Given the description of an element on the screen output the (x, y) to click on. 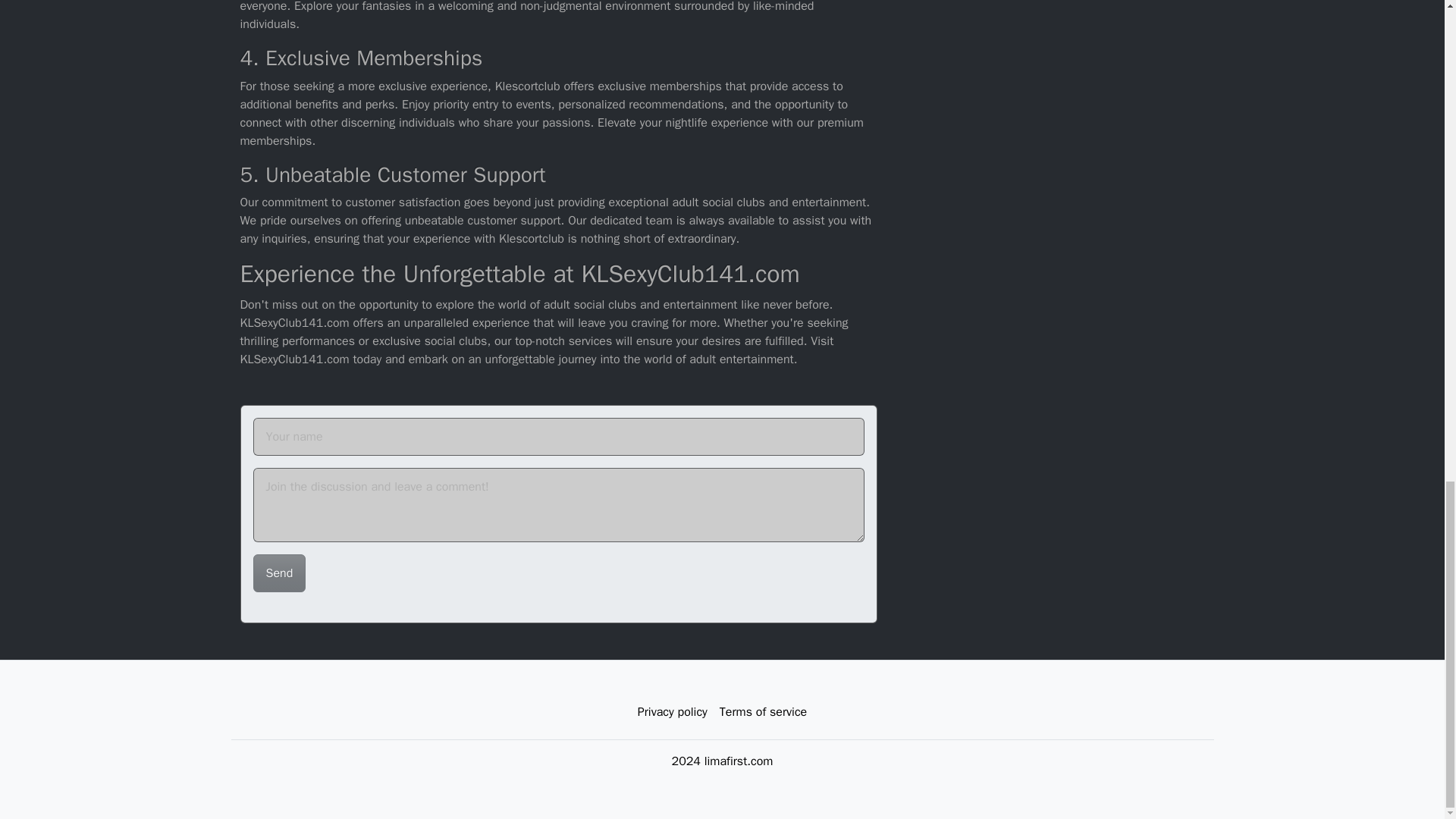
Send (279, 573)
Privacy policy (672, 711)
Terms of service (762, 711)
Send (279, 573)
